Given the description of an element on the screen output the (x, y) to click on. 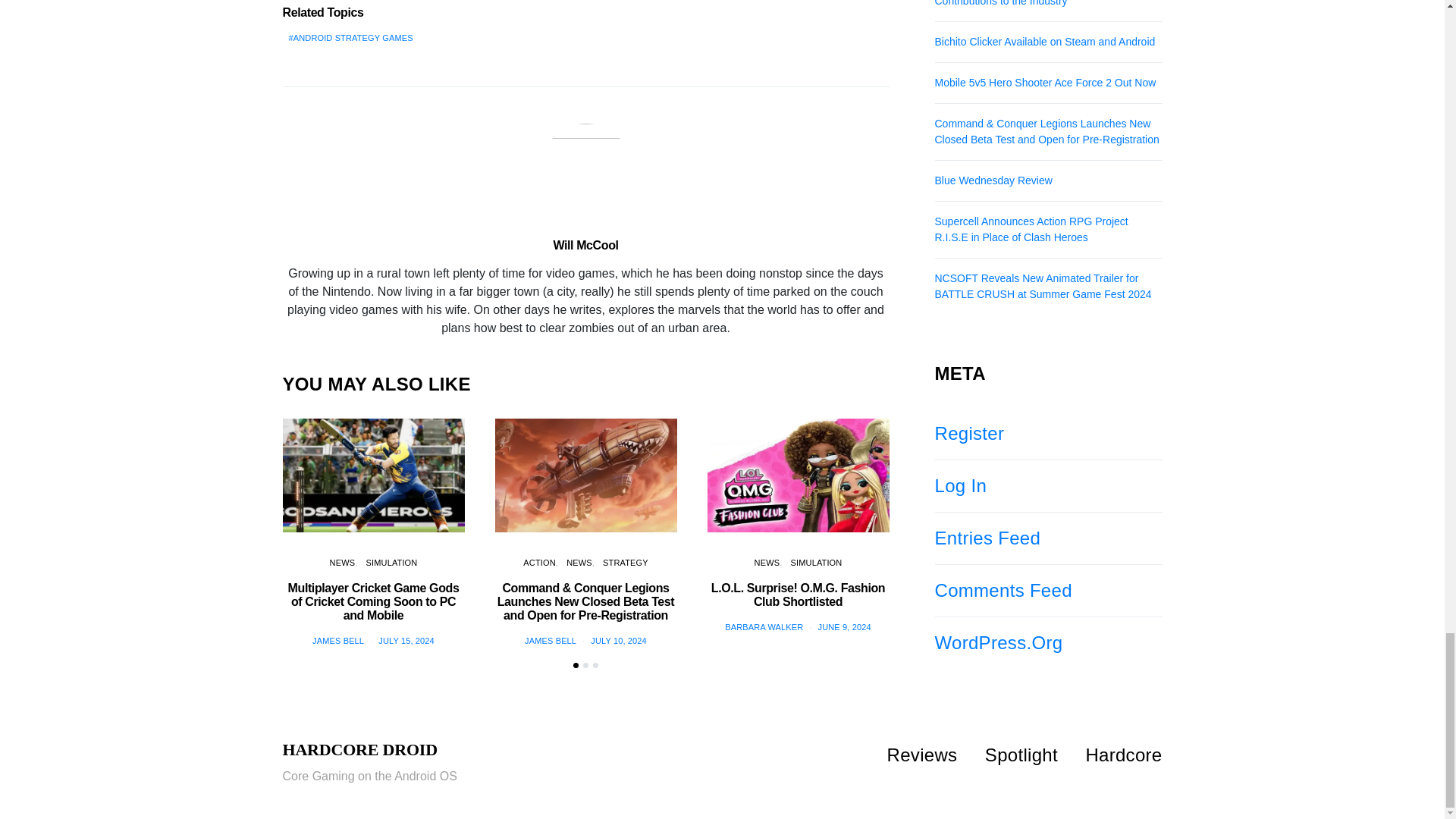
View all posts by James Bell (338, 640)
View all posts by James Bell (550, 640)
View all posts by Barbara Walker (764, 626)
